Given the description of an element on the screen output the (x, y) to click on. 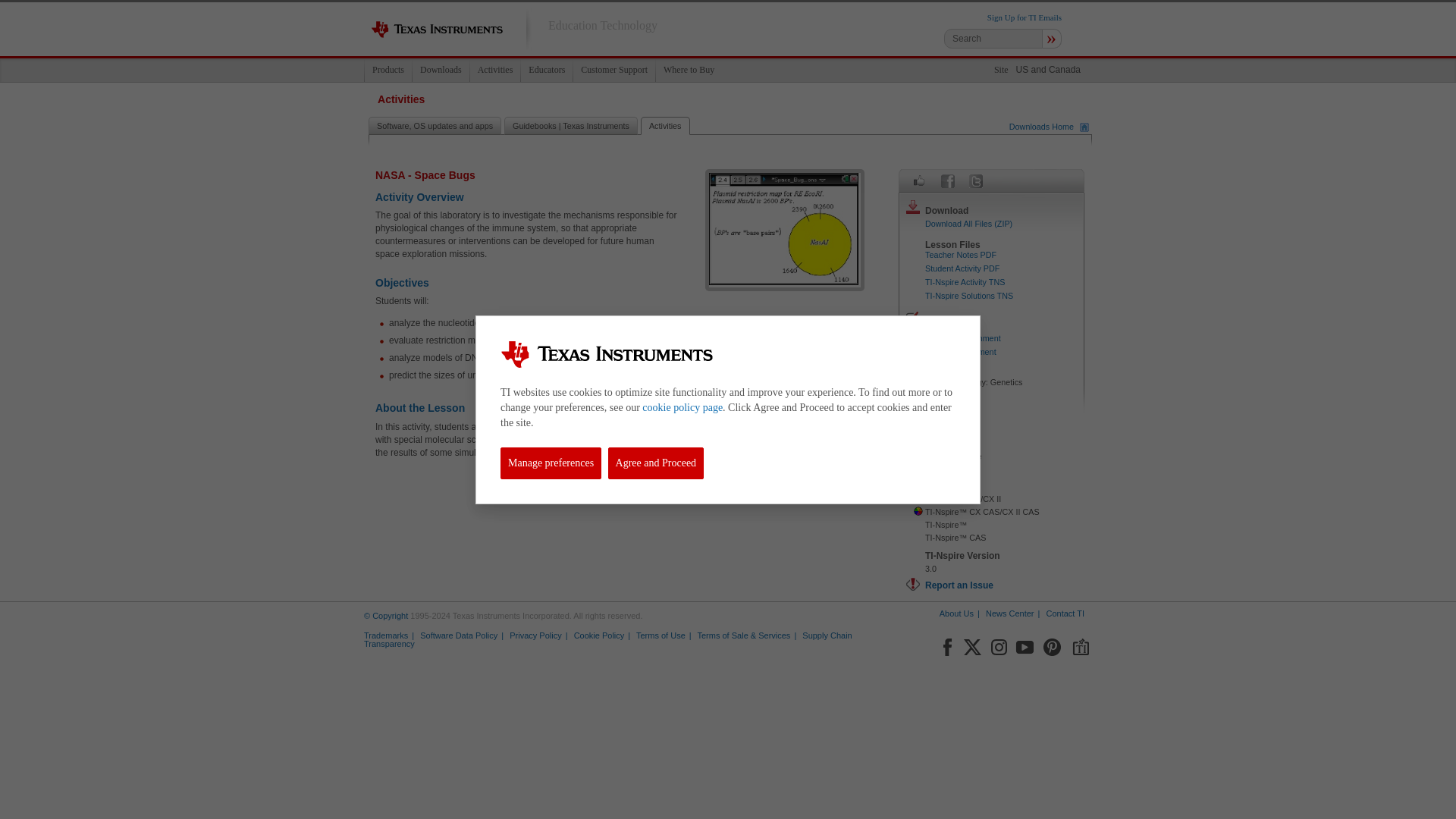
Activities (494, 69)
Sign Up for TI Emails (1024, 17)
Pinterest (1052, 644)
Twitter (975, 180)
Recommend Activity (919, 180)
Instagram (998, 644)
Twitter (972, 644)
Educators (545, 69)
Facebook (946, 644)
YouTube (1025, 644)
Downloads (440, 69)
Facebook (947, 180)
Products (388, 69)
